Given the description of an element on the screen output the (x, y) to click on. 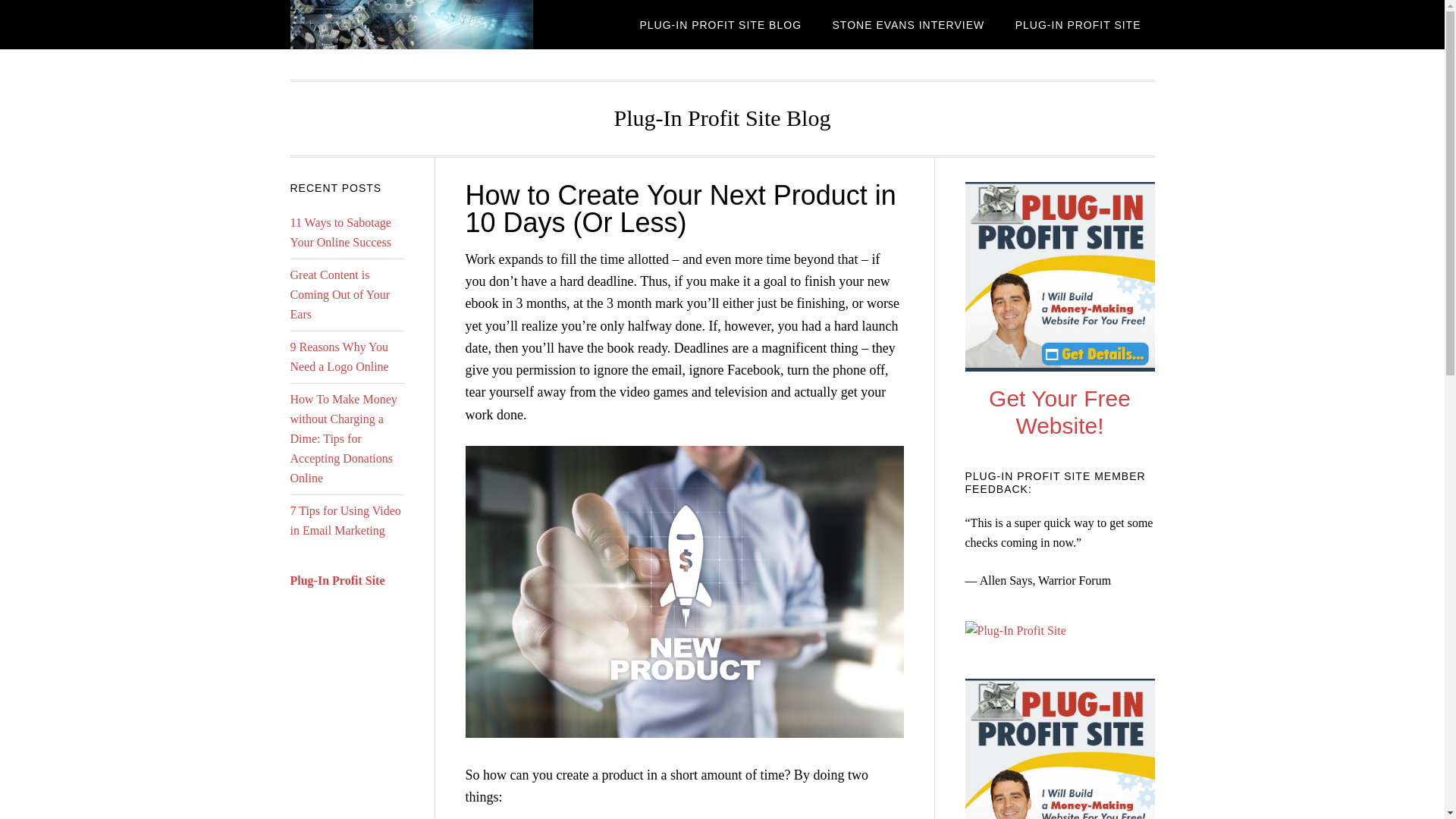
PLUG-IN PROFIT SITE (1077, 24)
STONE EVANS INTERVIEW (908, 24)
Great Content is Coming Out of Your Ears (339, 294)
Plug-In Profit Site (336, 580)
7 Tips for Using Video in Email Marketing (344, 520)
PLUG-IN PROFIT SITE BLOG (720, 24)
Get Your Free Website! (1059, 411)
11 Ways to Sabotage Your Online Success (339, 232)
9 Reasons Why You Need a Logo Online (338, 356)
